Given the description of an element on the screen output the (x, y) to click on. 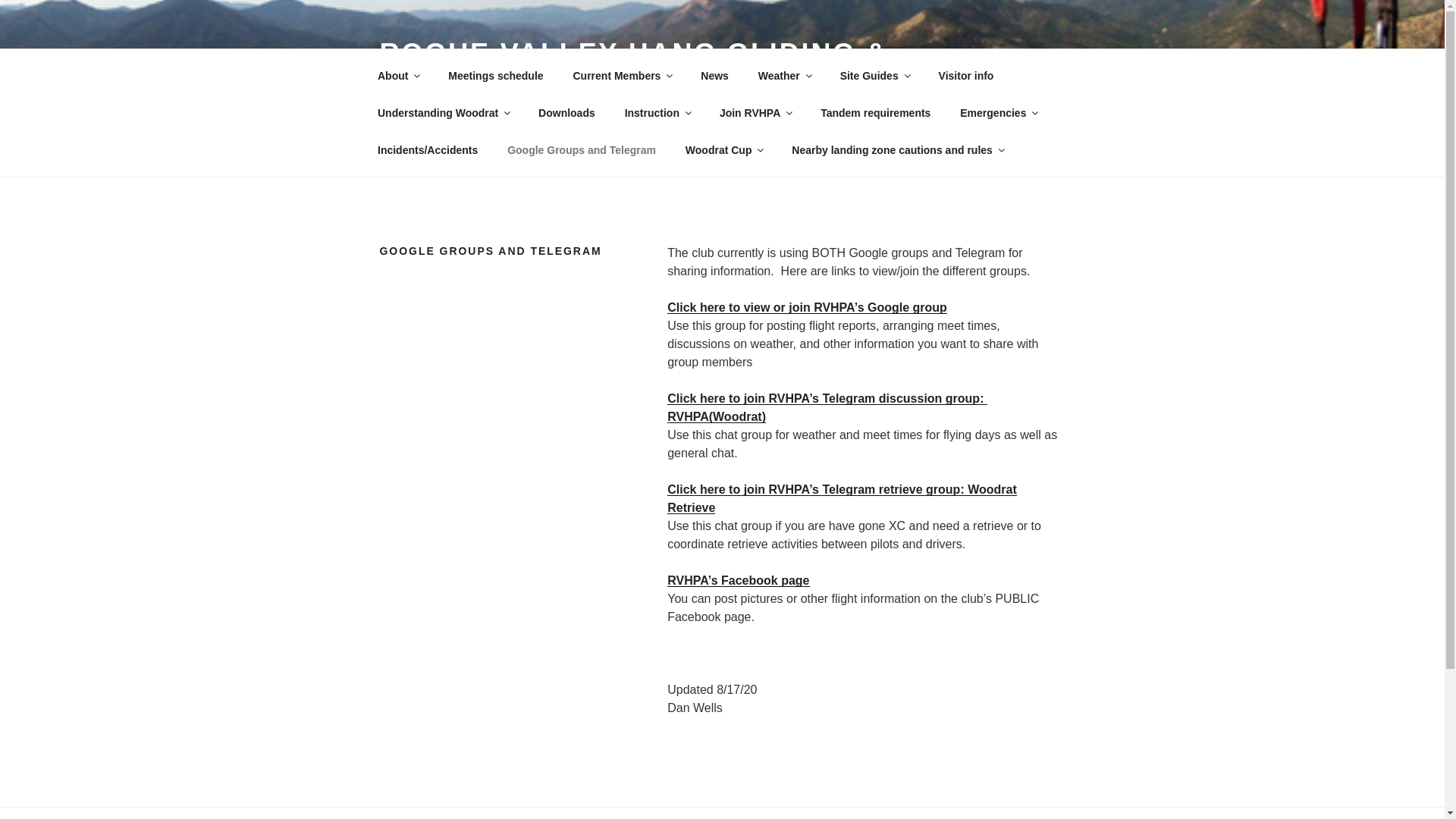
Meetings schedule (495, 76)
Downloads (566, 112)
Instruction (657, 112)
Emergencies (998, 112)
Site Guides (874, 76)
Tandem requirements (875, 112)
About (397, 76)
Understanding Woodrat (442, 112)
Visitor info (965, 76)
News (714, 76)
